Given the description of an element on the screen output the (x, y) to click on. 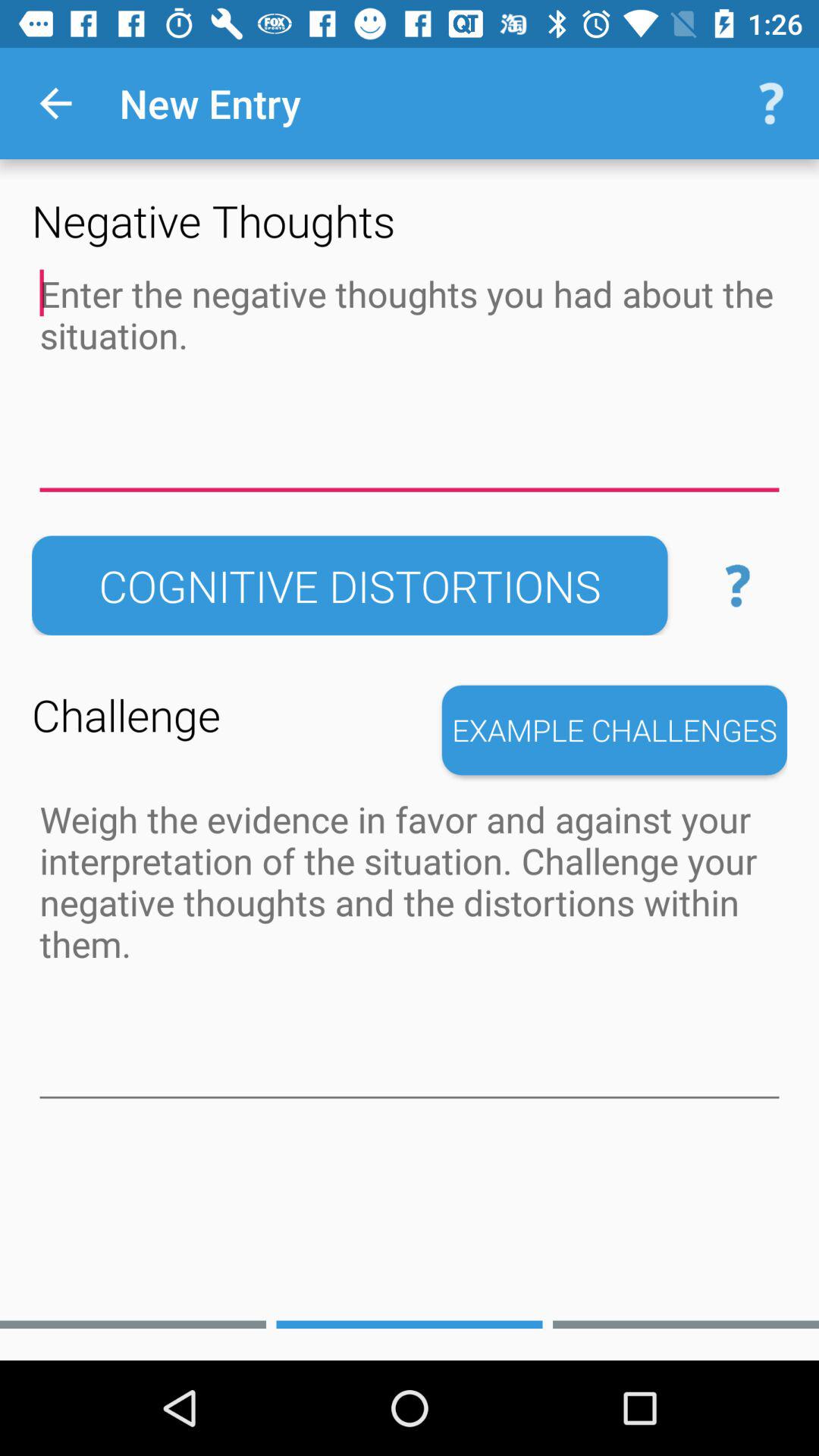
click the icon next to the new entry icon (771, 103)
